Given the description of an element on the screen output the (x, y) to click on. 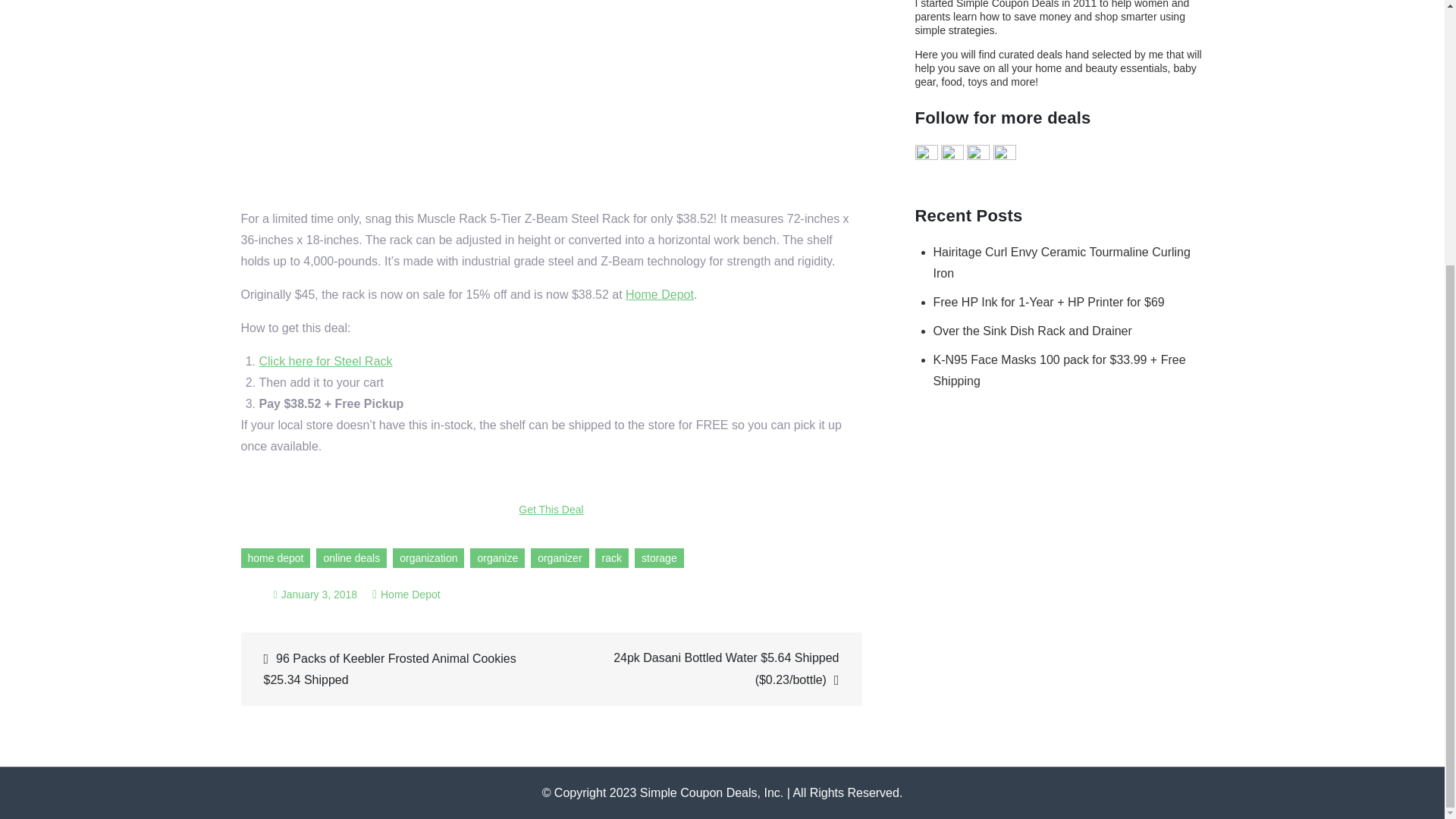
organize (497, 557)
Home Depot (660, 294)
Hairitage Curl Envy Ceramic Tourmaline Curling Iron (1061, 262)
storage (659, 557)
Over the Sink Dish Rack and Drainer (1032, 330)
Home Depot (410, 594)
home depot (276, 557)
online deals (351, 557)
rack (611, 557)
organizer (559, 557)
